Given the description of an element on the screen output the (x, y) to click on. 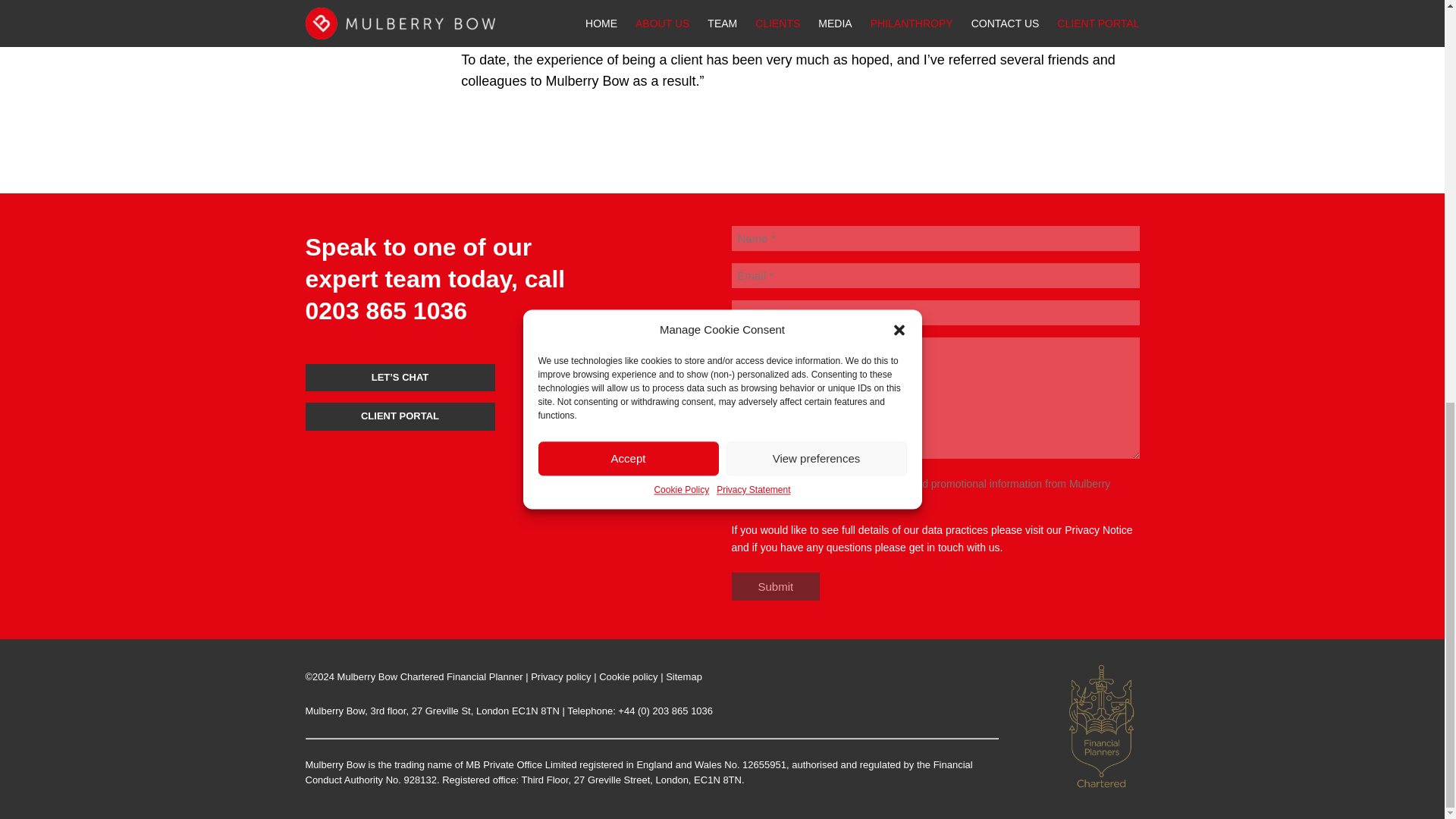
Submit (774, 586)
Privacy Notice (1098, 530)
Submit (774, 586)
CLIENT PORTAL (399, 416)
Privacy policy (561, 676)
